Given the description of an element on the screen output the (x, y) to click on. 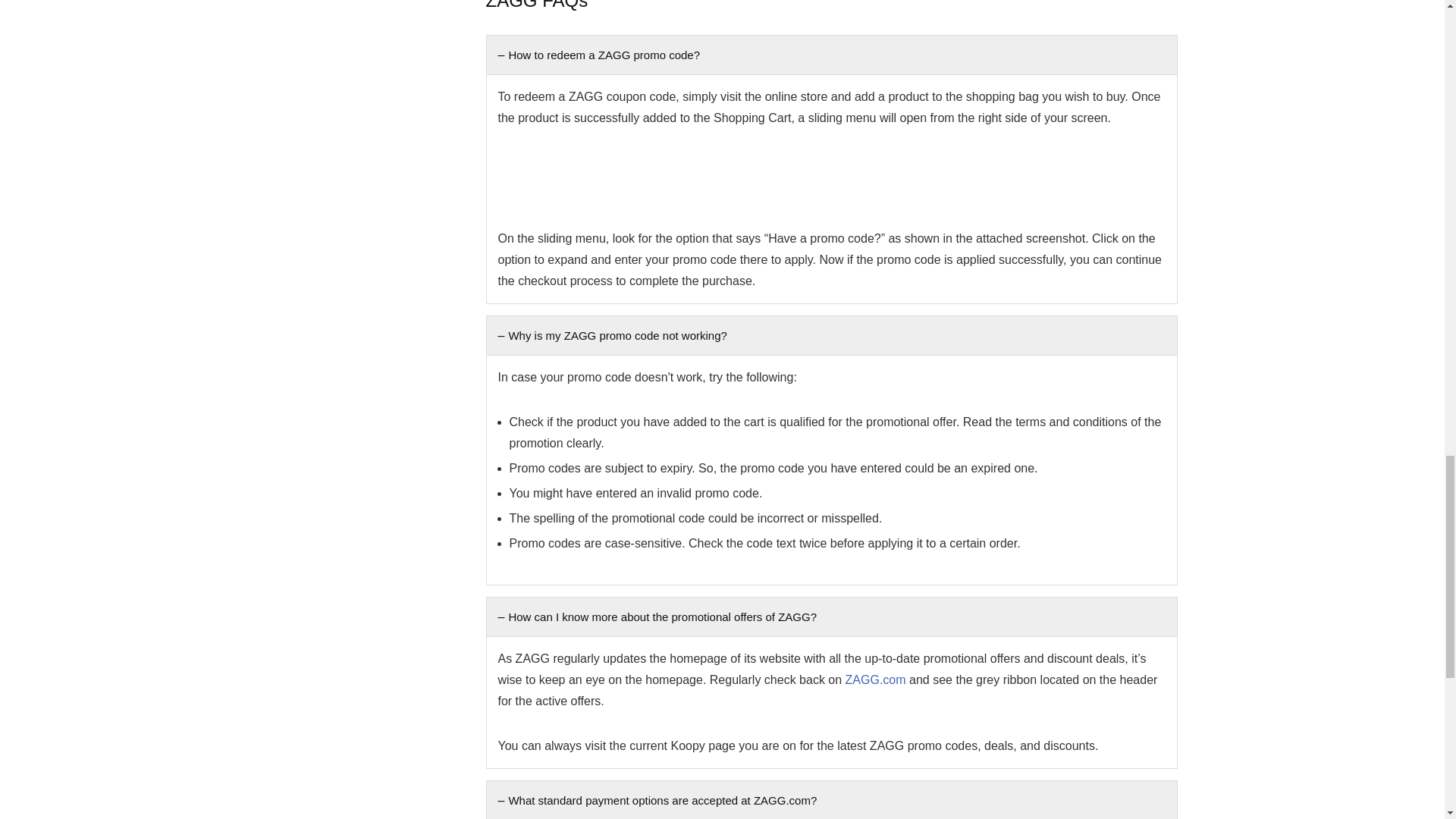
ZAGG.com (875, 679)
